Given the description of an element on the screen output the (x, y) to click on. 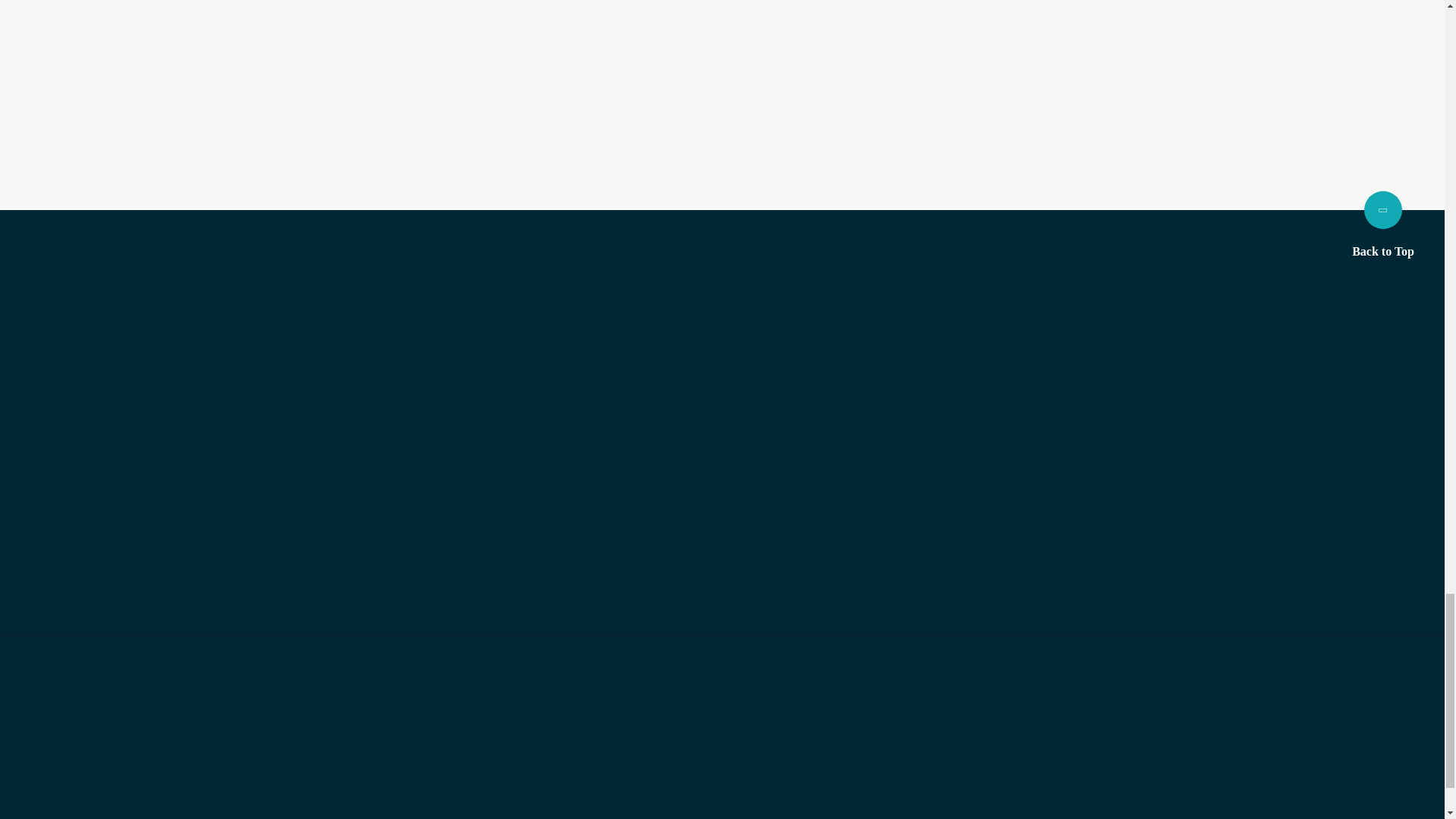
Back to Top (1382, 224)
